Given the description of an element on the screen output the (x, y) to click on. 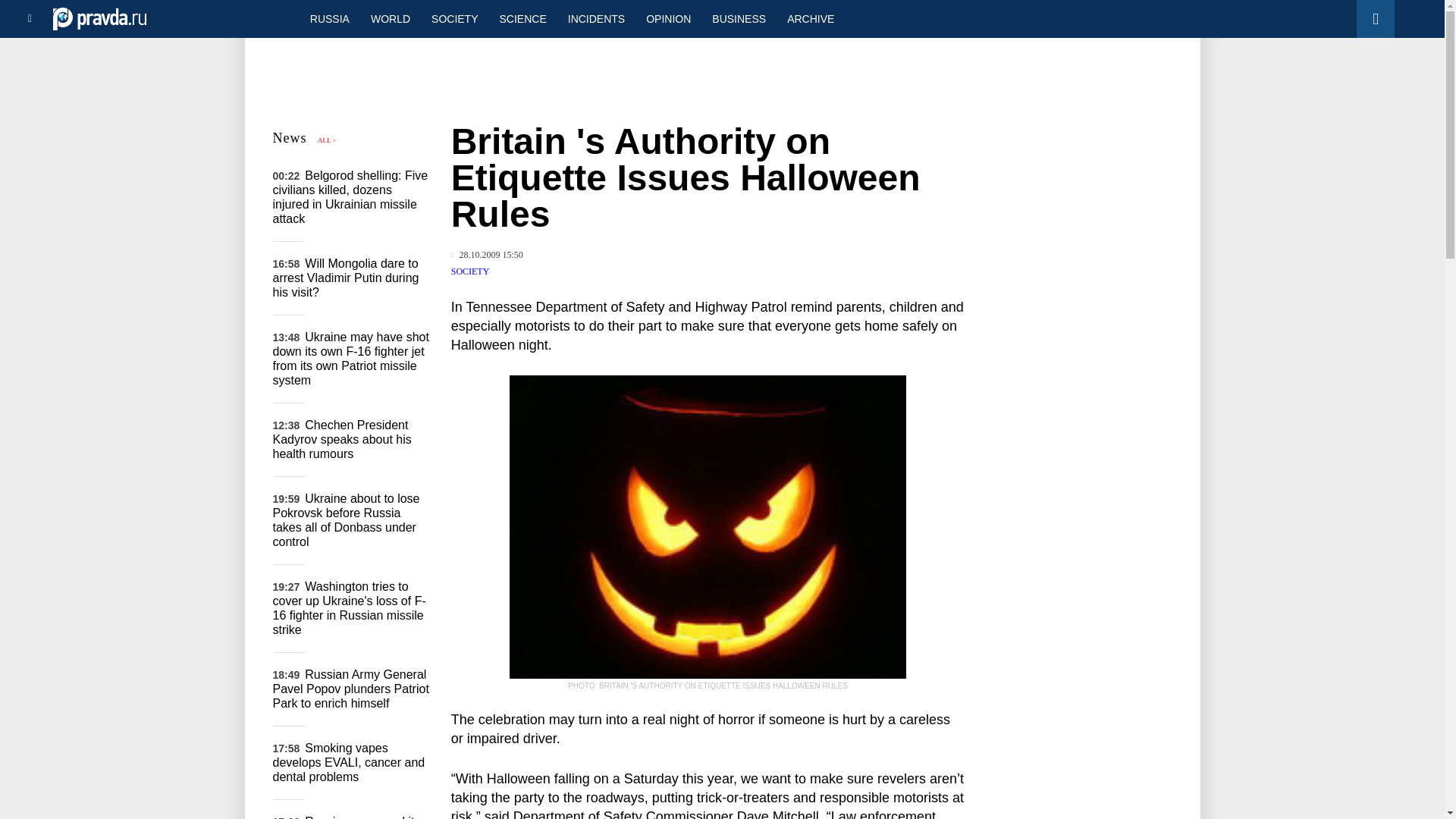
SOCIETY (453, 18)
OPINION (667, 18)
WORLD (389, 18)
Smoking vapes develops EVALI, cancer and dental problems (349, 762)
Britain 's Authority on Etiquette Issues Halloween Rules (707, 526)
SOCIETY (470, 271)
News (290, 137)
